Given the description of an element on the screen output the (x, y) to click on. 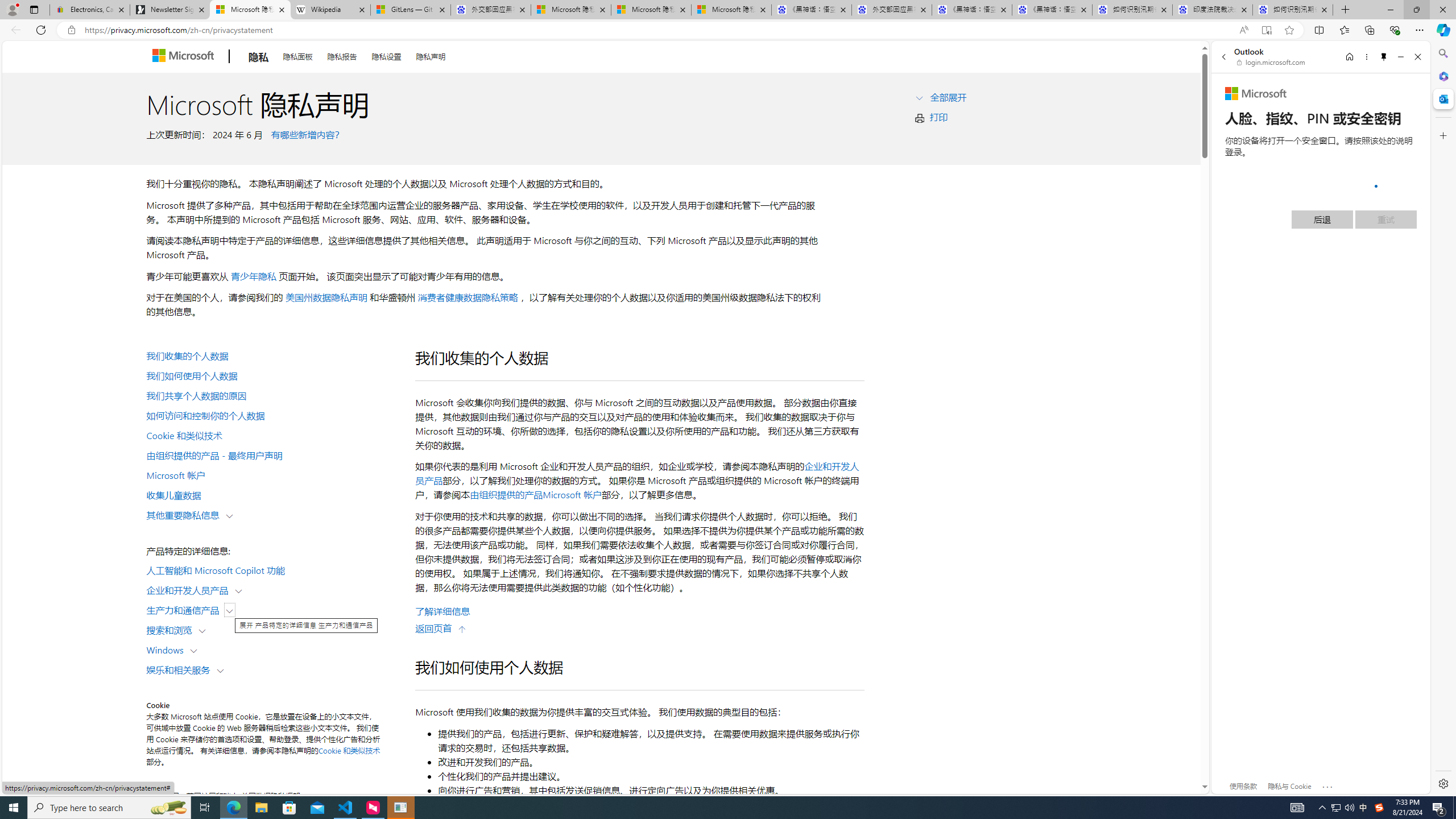
Unpin side pane (1383, 56)
Enter Immersive Reader (F9) (1266, 29)
Windows (167, 649)
Newsletter Sign Up (170, 9)
